Given the description of an element on the screen output the (x, y) to click on. 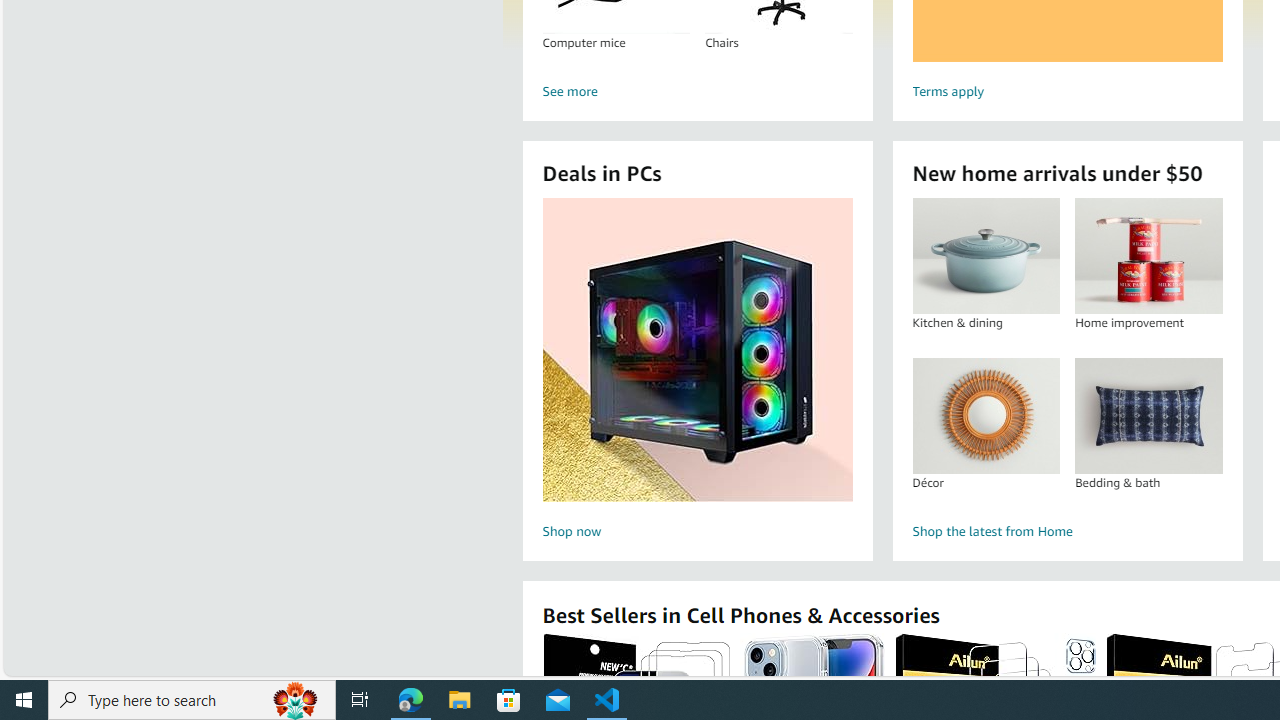
Kitchen & dining (986, 256)
Kitchen & dining (985, 256)
Bedding & bath (1148, 415)
